Given the description of an element on the screen output the (x, y) to click on. 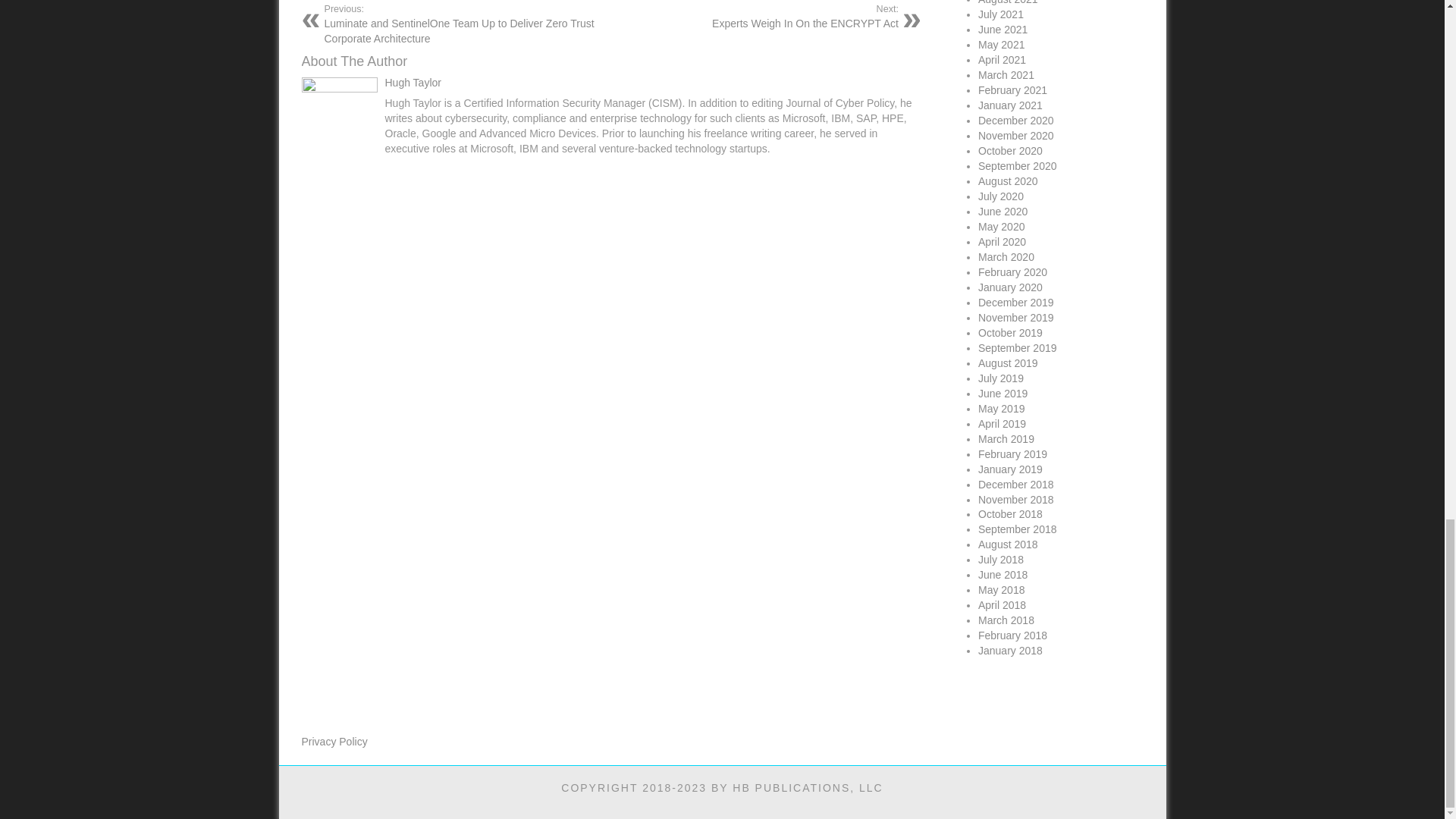
Hugh Taylor (760, 16)
